Given the description of an element on the screen output the (x, y) to click on. 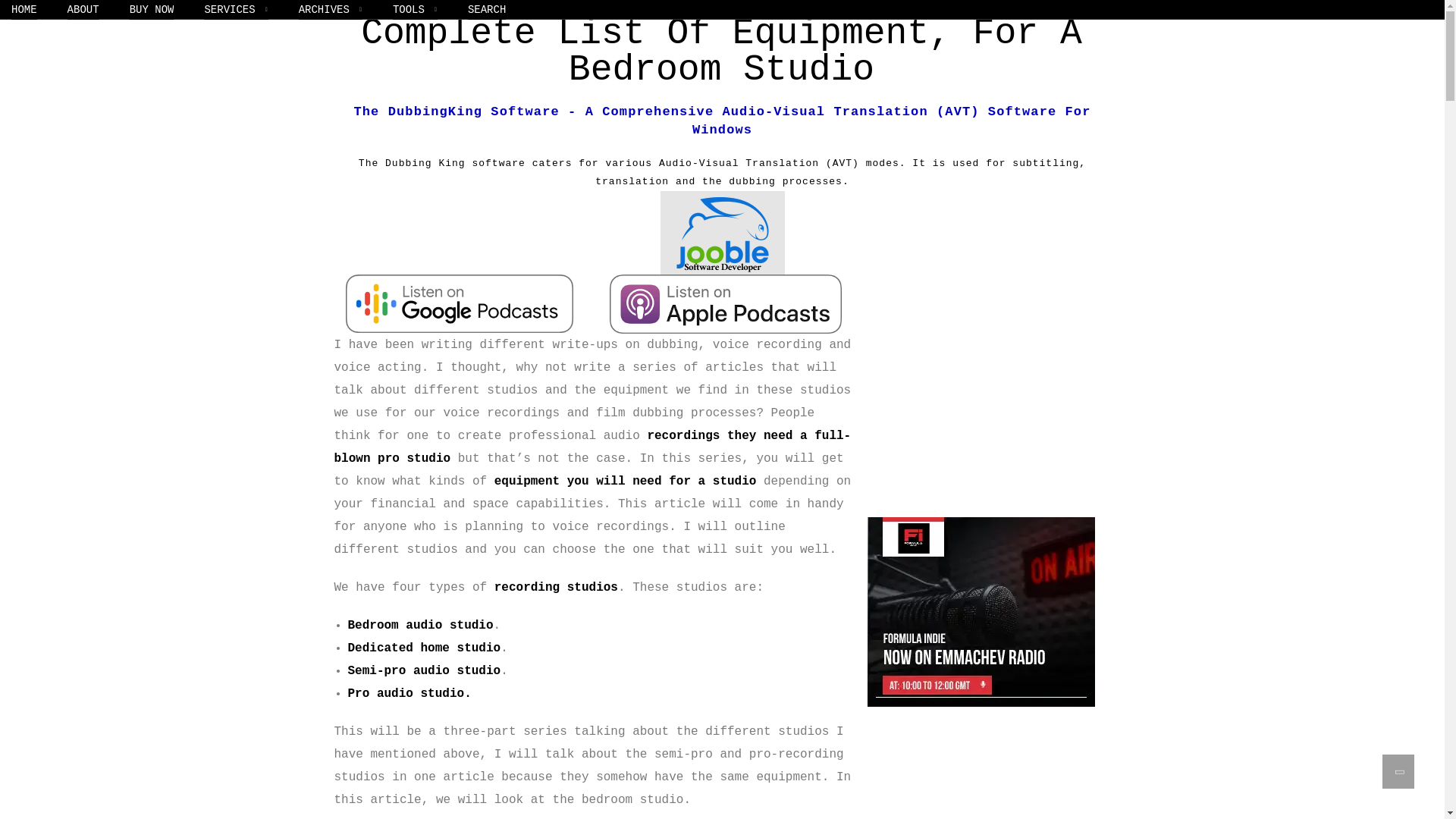
ARCHIVES (330, 9)
TOOLS (415, 9)
SERVICES (235, 9)
HOME (24, 9)
ABOUT (82, 9)
SEARCH (486, 9)
BUY NOW (151, 9)
